Given the description of an element on the screen output the (x, y) to click on. 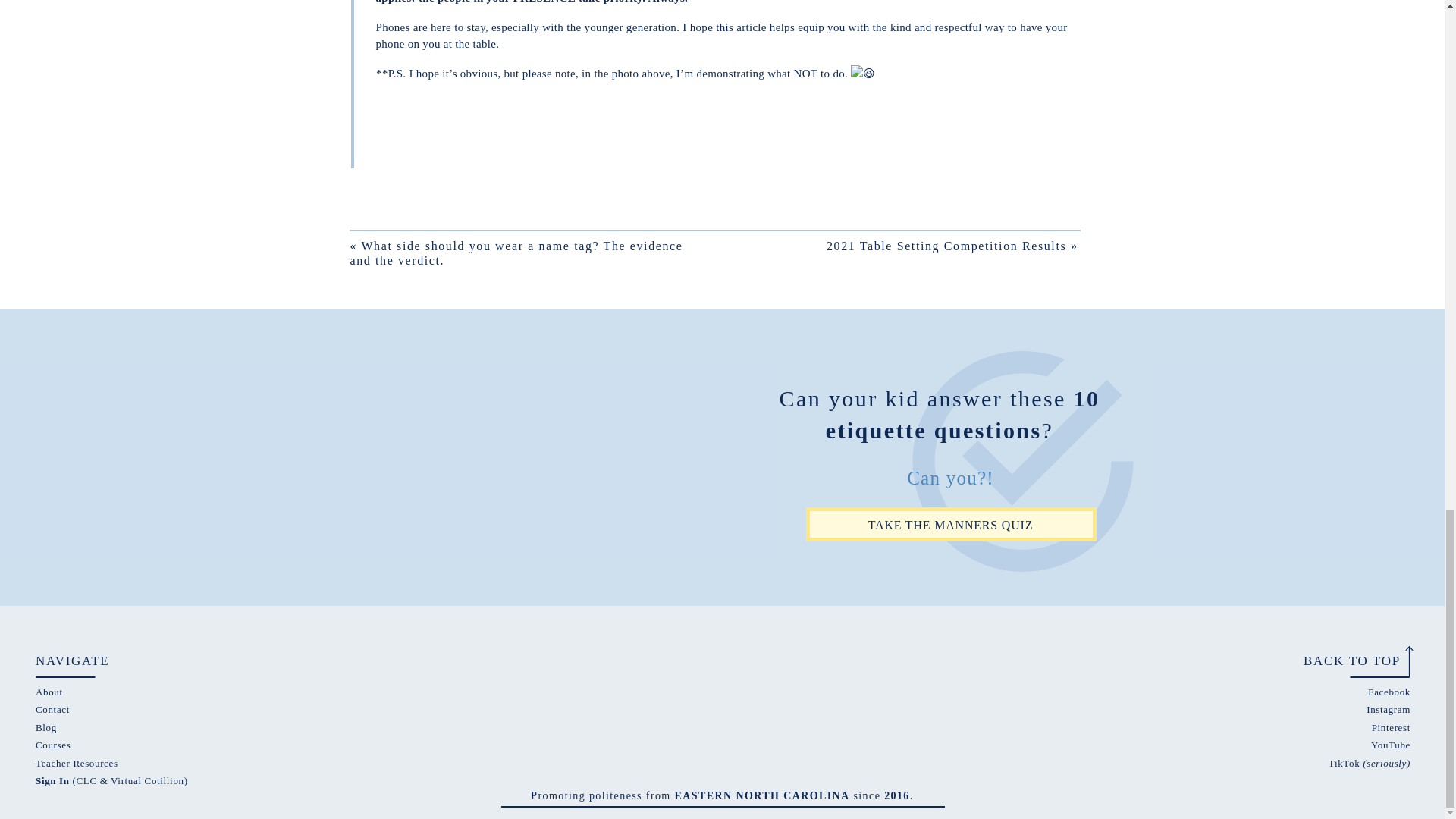
Teacher Resources (75, 763)
BACK TO TOP (1343, 660)
Blog (45, 727)
Contact (51, 708)
About (48, 691)
2021 Table Setting Competition Results (946, 245)
Courses (51, 745)
TAKE THE MANNERS QUIZ (949, 524)
